Given the description of an element on the screen output the (x, y) to click on. 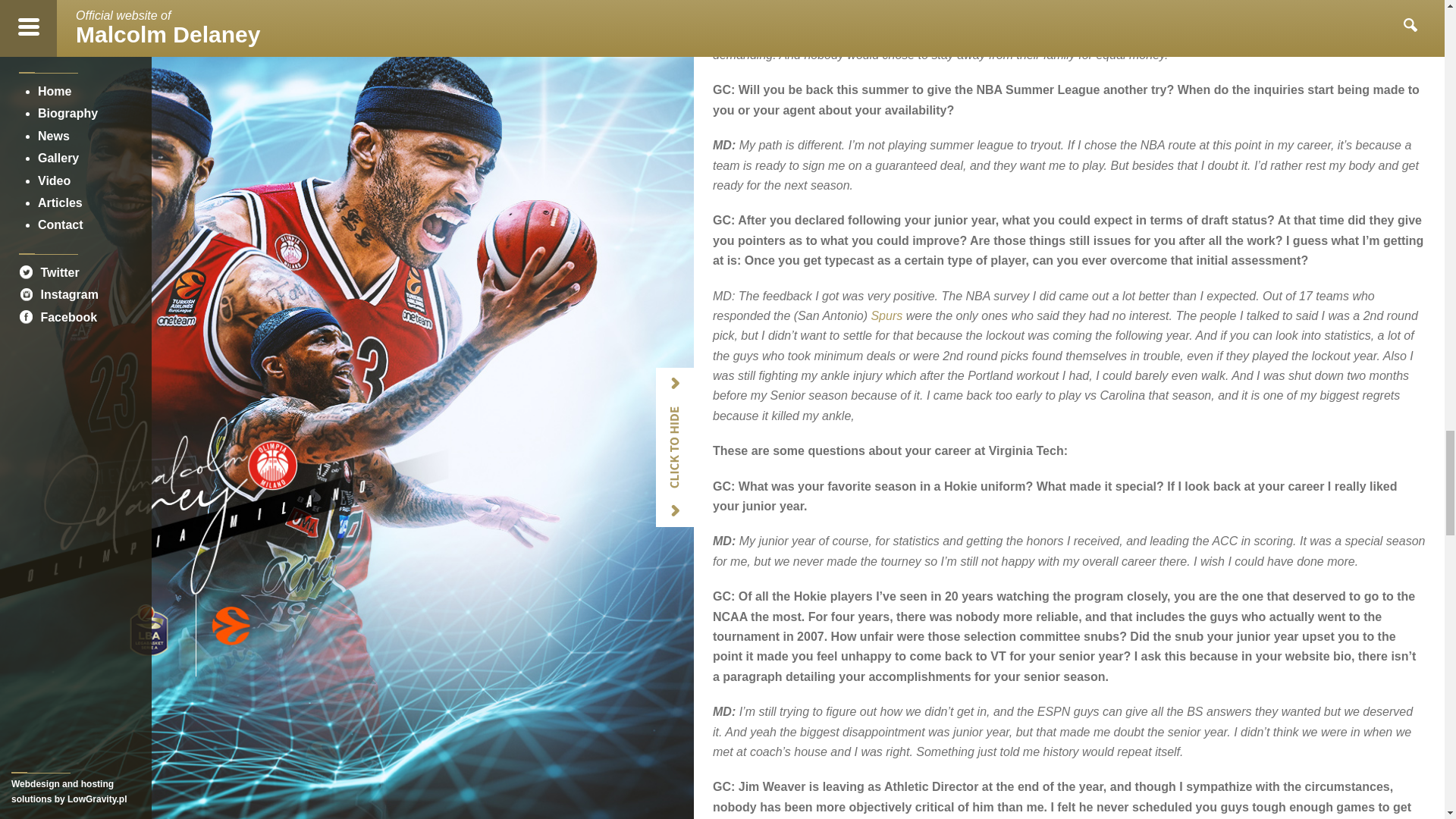
Spurs (886, 315)
